Given the description of an element on the screen output the (x, y) to click on. 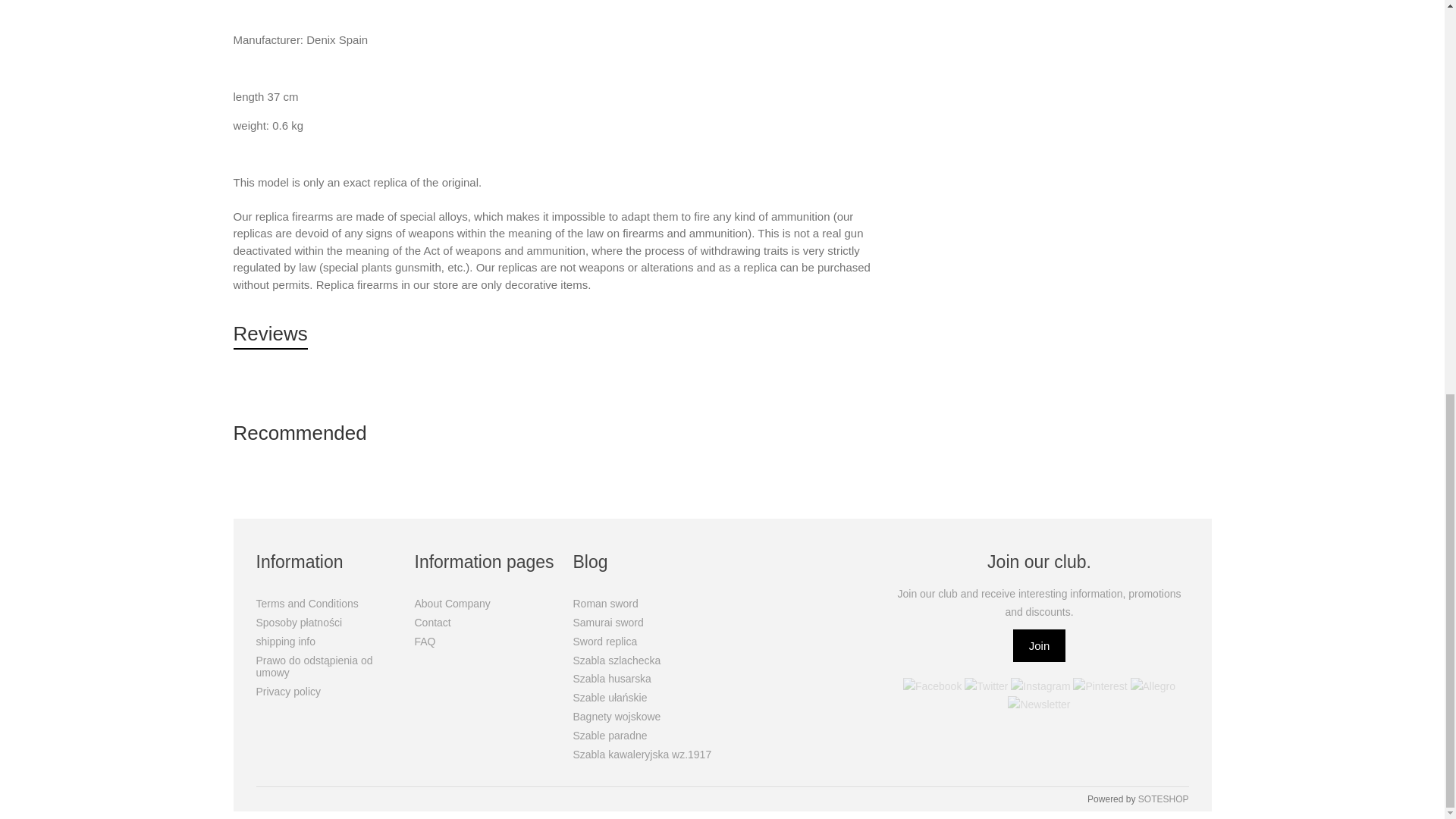
SOTESHOP (1163, 798)
